Given the description of an element on the screen output the (x, y) to click on. 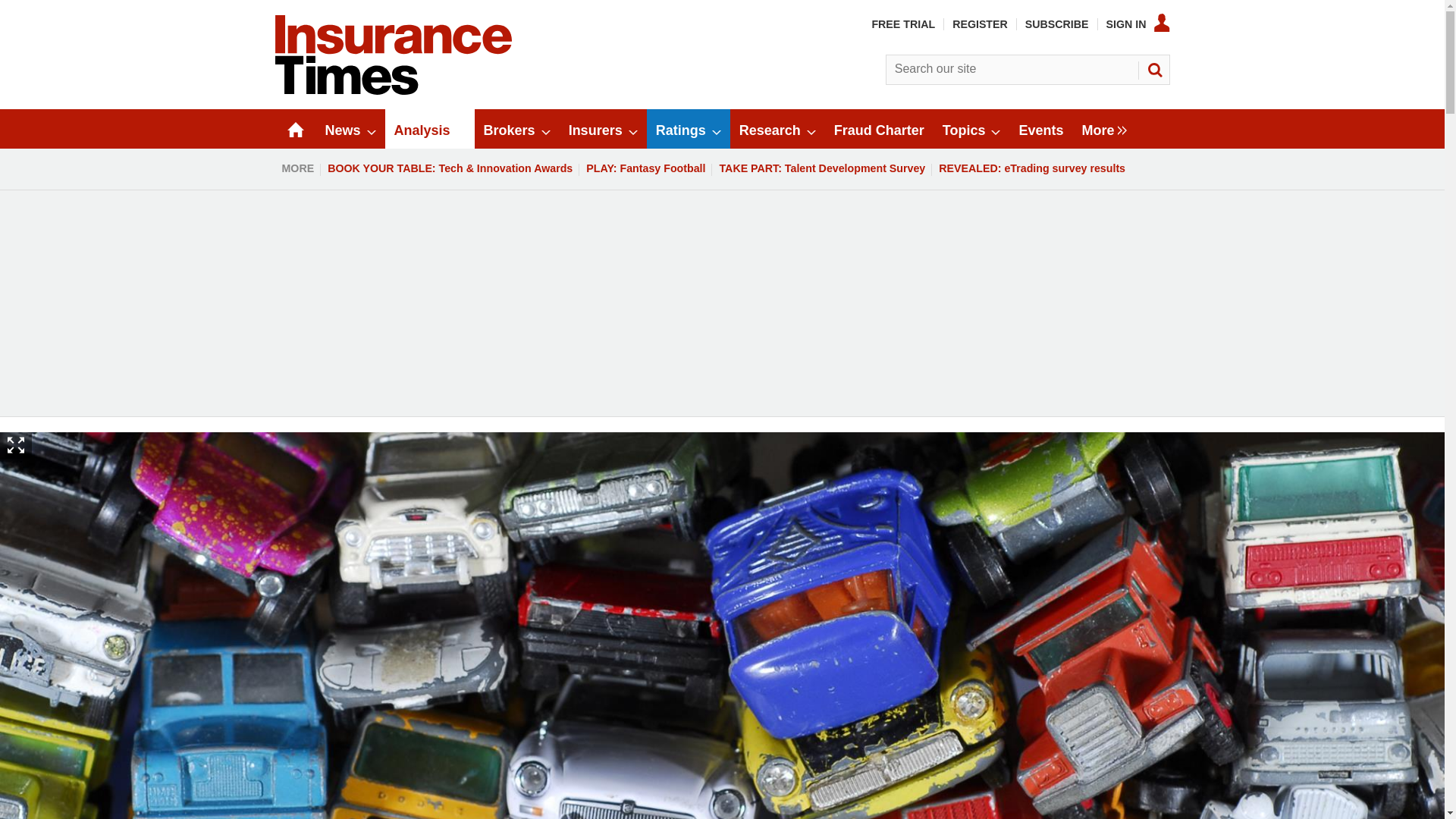
REGISTER (979, 24)
SUBSCRIBE (1057, 24)
SIGN IN (1138, 24)
TAKE PART: Talent Development Survey (821, 168)
FREE TRIAL (902, 24)
PLAY: Fantasy Football (645, 168)
SEARCH (1153, 69)
REVEALED: eTrading survey results (1031, 168)
Insert Logo text (393, 90)
